Given the description of an element on the screen output the (x, y) to click on. 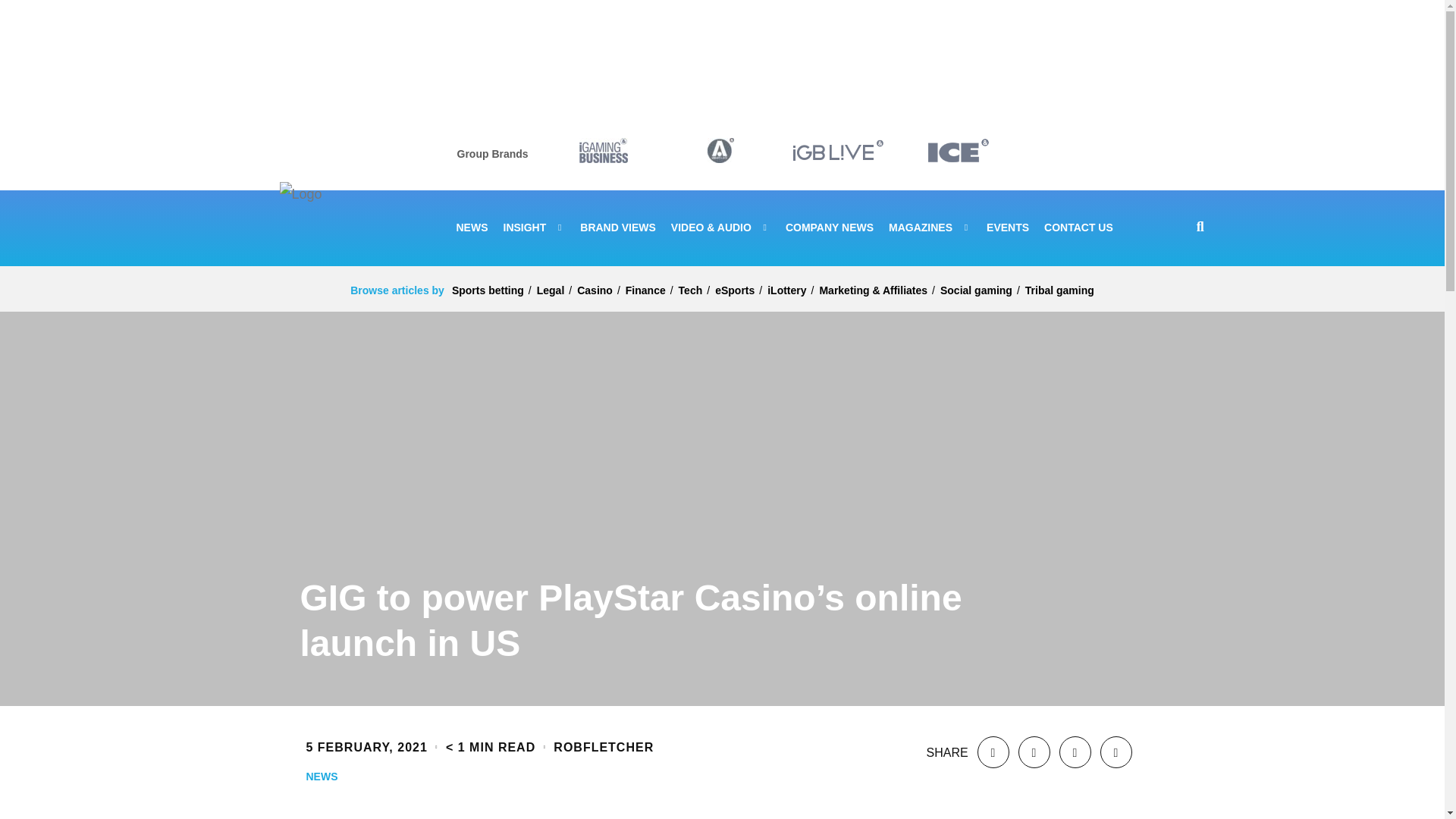
Tribal gaming (1059, 290)
Sports betting (487, 290)
Finance (645, 290)
Legal (550, 290)
eSports (734, 290)
BRAND VIEWS (617, 227)
INSIGHT (534, 227)
COMPANY NEWS (829, 227)
CONTACT US (1078, 227)
MAGAZINES (929, 227)
Tech (690, 290)
Social gaming (975, 290)
iLottery (786, 290)
Casino (594, 290)
EVENTS (1008, 227)
